Given the description of an element on the screen output the (x, y) to click on. 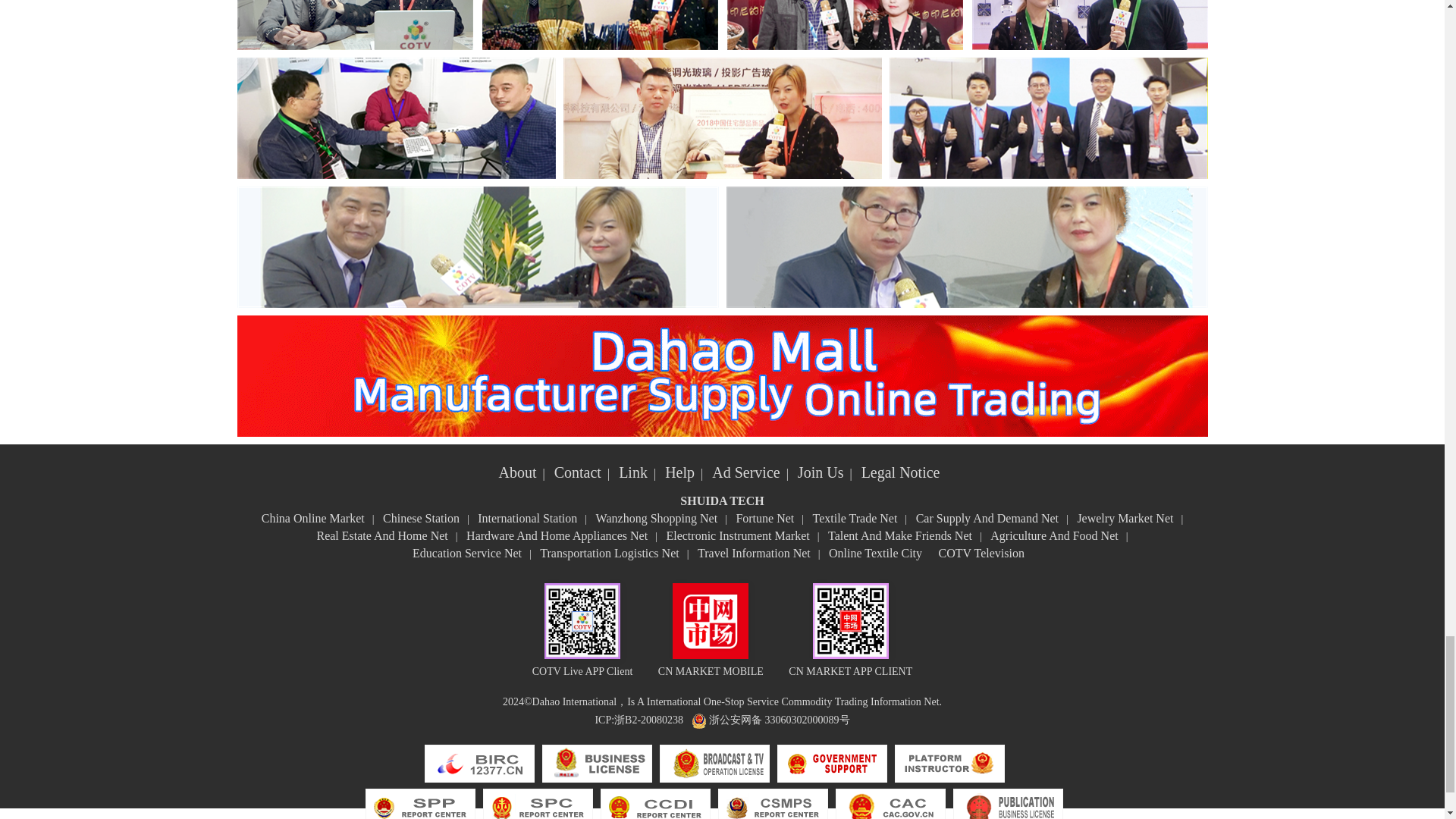
Website Platform Instructor (949, 763)
Publication License (1007, 803)
Reporting Center of Supreme People's Procuratorate (420, 803)
National Internet Information Office (889, 803)
Governmental Support (831, 763)
Business License (596, 763)
Bad Information Reporting Center (479, 763)
Central Commission for Discipline Inspection (654, 803)
Supreme People's Court Reporting Center (536, 803)
